Given the description of an element on the screen output the (x, y) to click on. 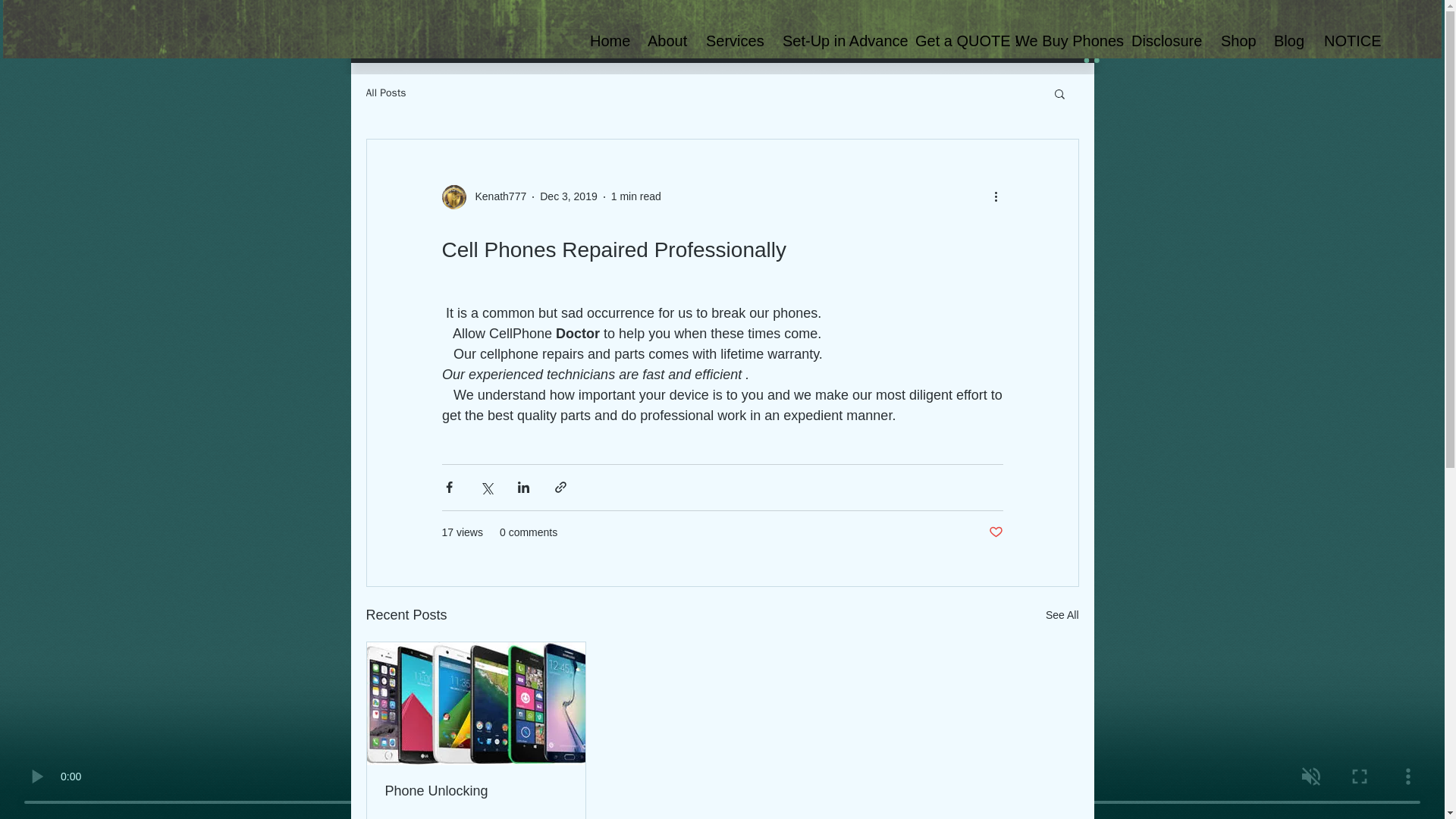
Phone Unlocking (476, 790)
Kenath777 (495, 196)
Dec 3, 2019 (568, 196)
All Posts (385, 92)
1 min read (636, 196)
About (665, 40)
Shop (1235, 40)
Set-Up in Advance (837, 40)
Disclosure (1164, 40)
Home (607, 40)
Blog (1287, 40)
See All (1061, 615)
NOTICE (1343, 40)
We Buy Phones (1061, 40)
Get a QUOTE ! (954, 40)
